Given the description of an element on the screen output the (x, y) to click on. 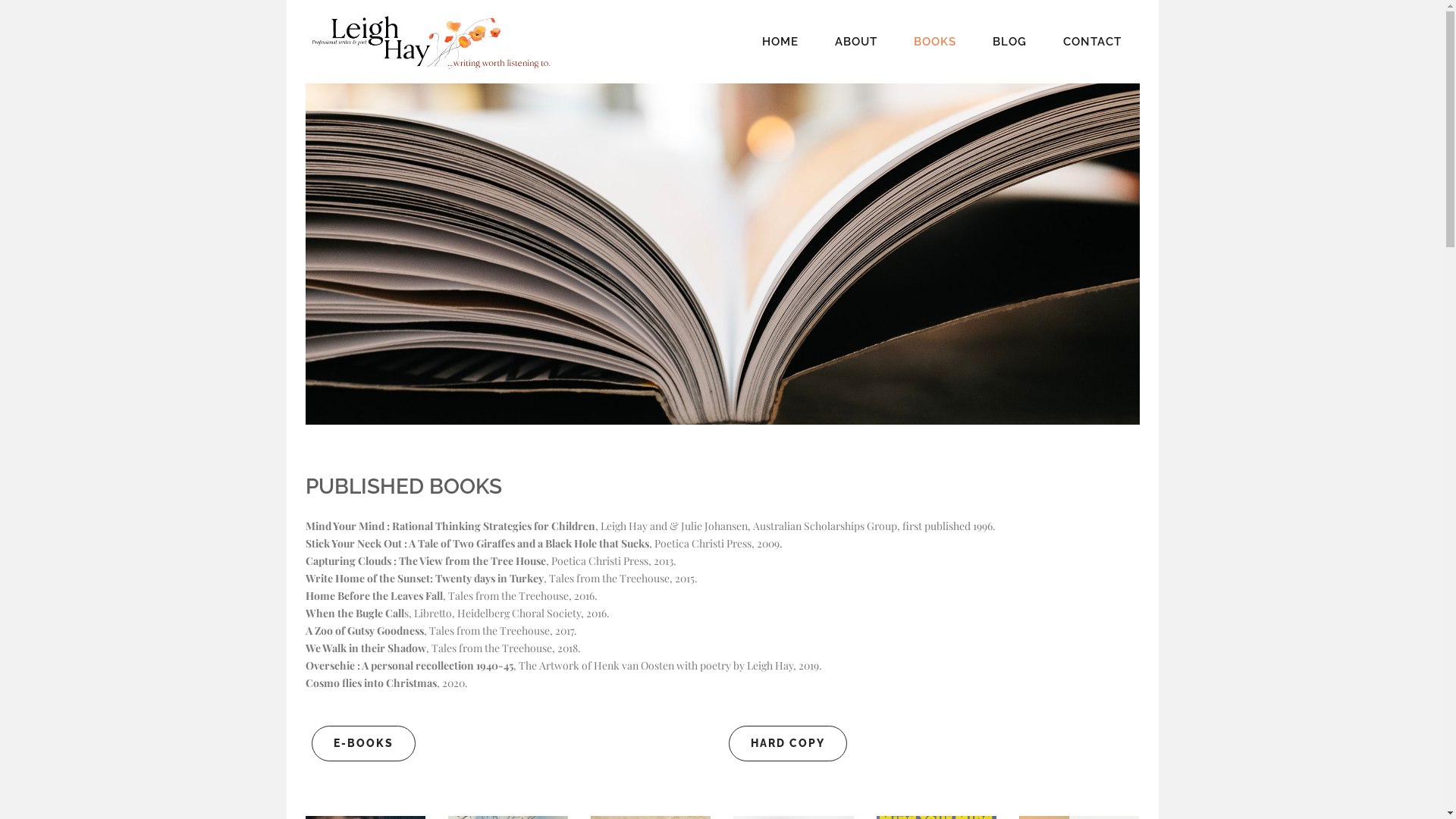
CONTACT Element type: text (1091, 41)
HARD COPY Element type: text (787, 743)
HOME Element type: text (779, 41)
ABOUT Element type: text (854, 41)
BLOG Element type: text (1008, 41)
E-BOOKS Element type: text (362, 743)
BOOKS Element type: text (933, 41)
